Given the description of an element on the screen output the (x, y) to click on. 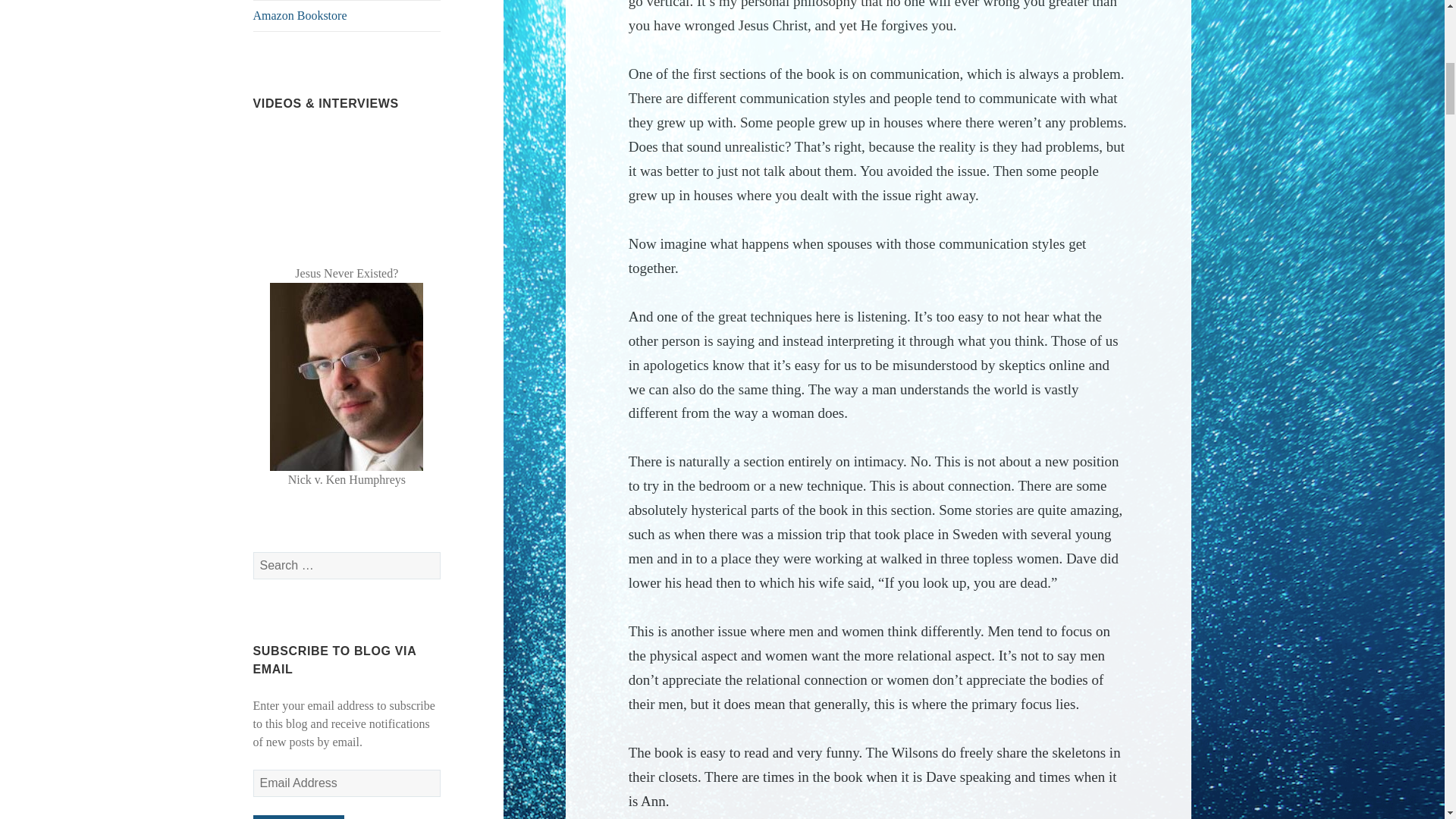
SUBSCRIBE (299, 816)
Amazon Bookstore (347, 15)
